Given the description of an element on the screen output the (x, y) to click on. 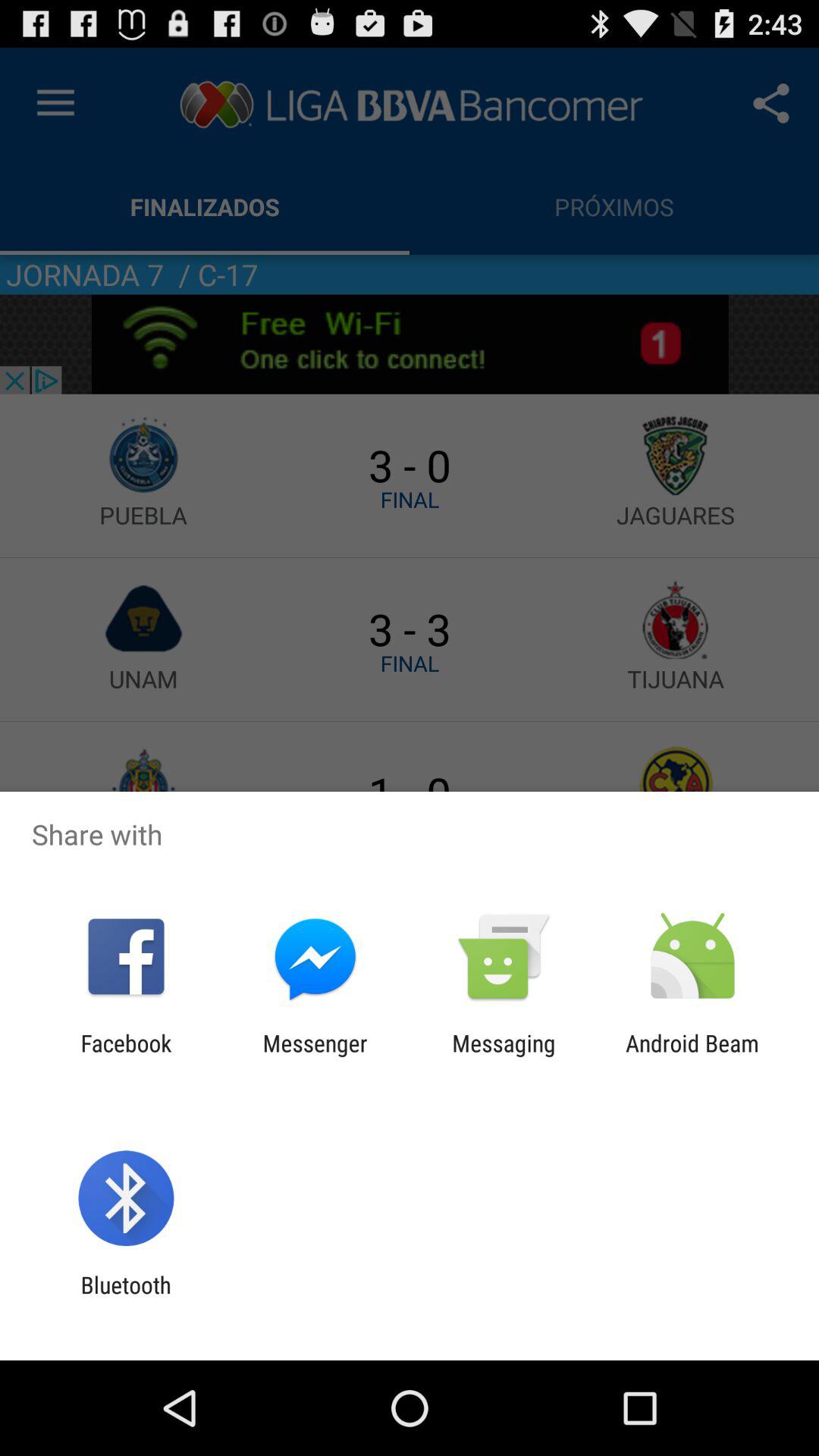
turn on the icon next to the messaging (314, 1056)
